Given the description of an element on the screen output the (x, y) to click on. 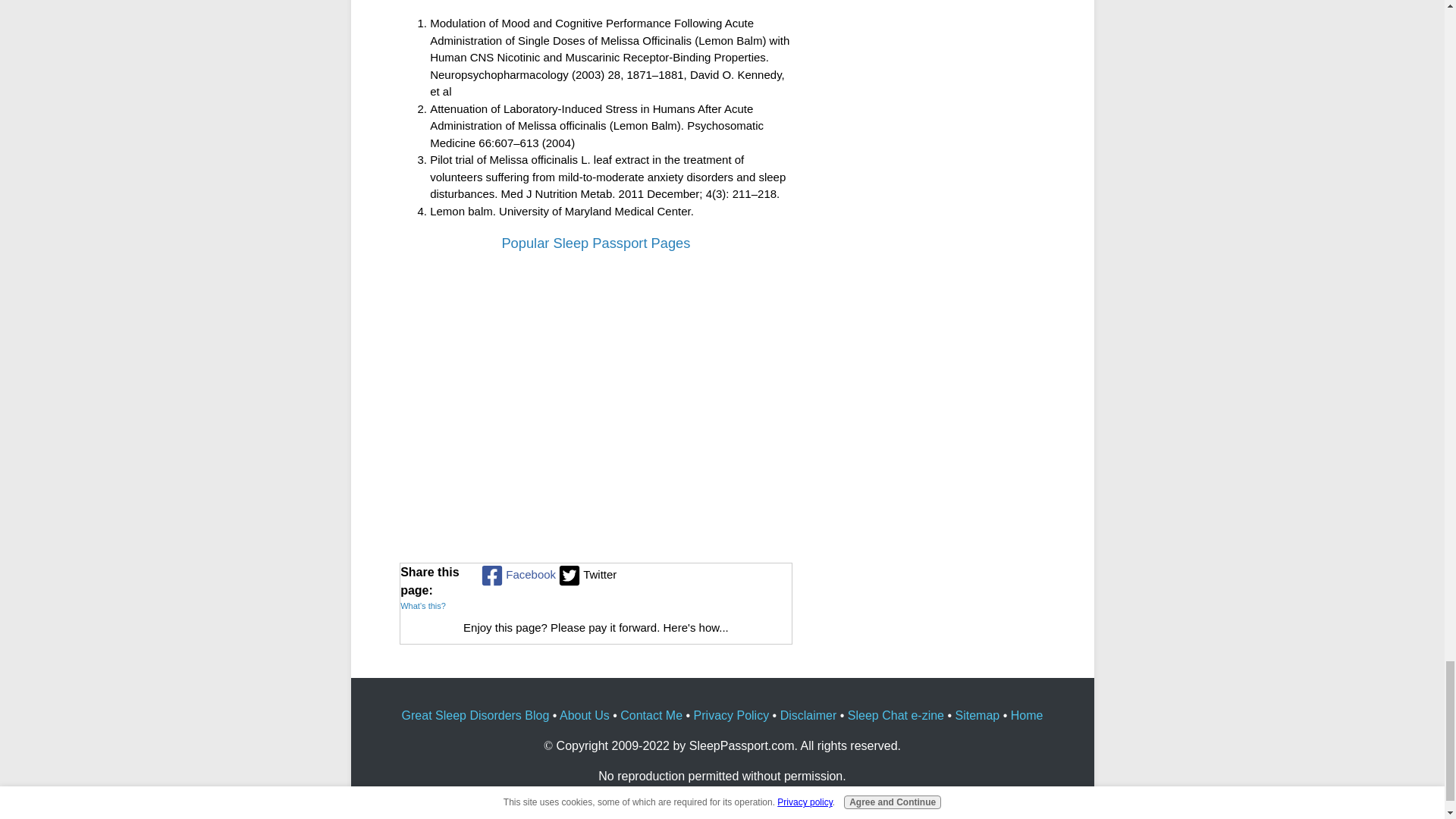
Read about the best natural sleep aids to fight insomnia (595, 476)
Go to Can OTC Sleep Aids Cause Alzheimer's? (726, 533)
Luxury mattress at a discount price. (726, 327)
Go to Buying A Memory Foam Topper? Could Be A Bad Decision (595, 383)
Learn about the side effects of over the counter sleep aids (726, 476)
Go to Best Mattress for Back Pain? It's Not What You Think (464, 383)
